Given the description of an element on the screen output the (x, y) to click on. 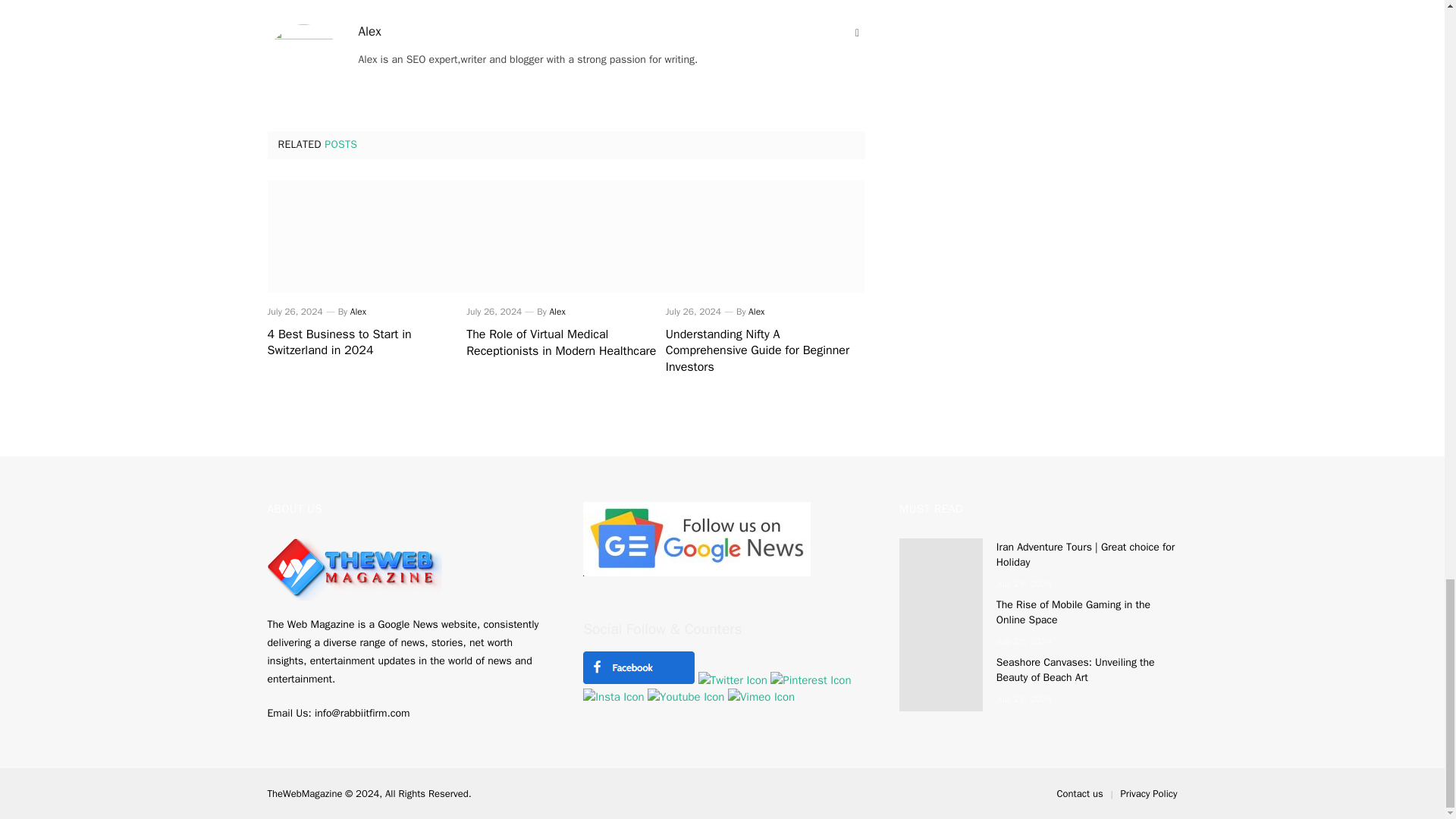
4 Best Business to Start in Switzerland in 2024 (365, 343)
Posts by Alex (358, 311)
Website (856, 32)
Posts by Alex (556, 311)
Website (856, 32)
Alex (358, 311)
Alex (369, 31)
Posts by Alex (369, 31)
4 Best Business to Start in Switzerland in 2024 (365, 236)
Alex (556, 311)
